Given the description of an element on the screen output the (x, y) to click on. 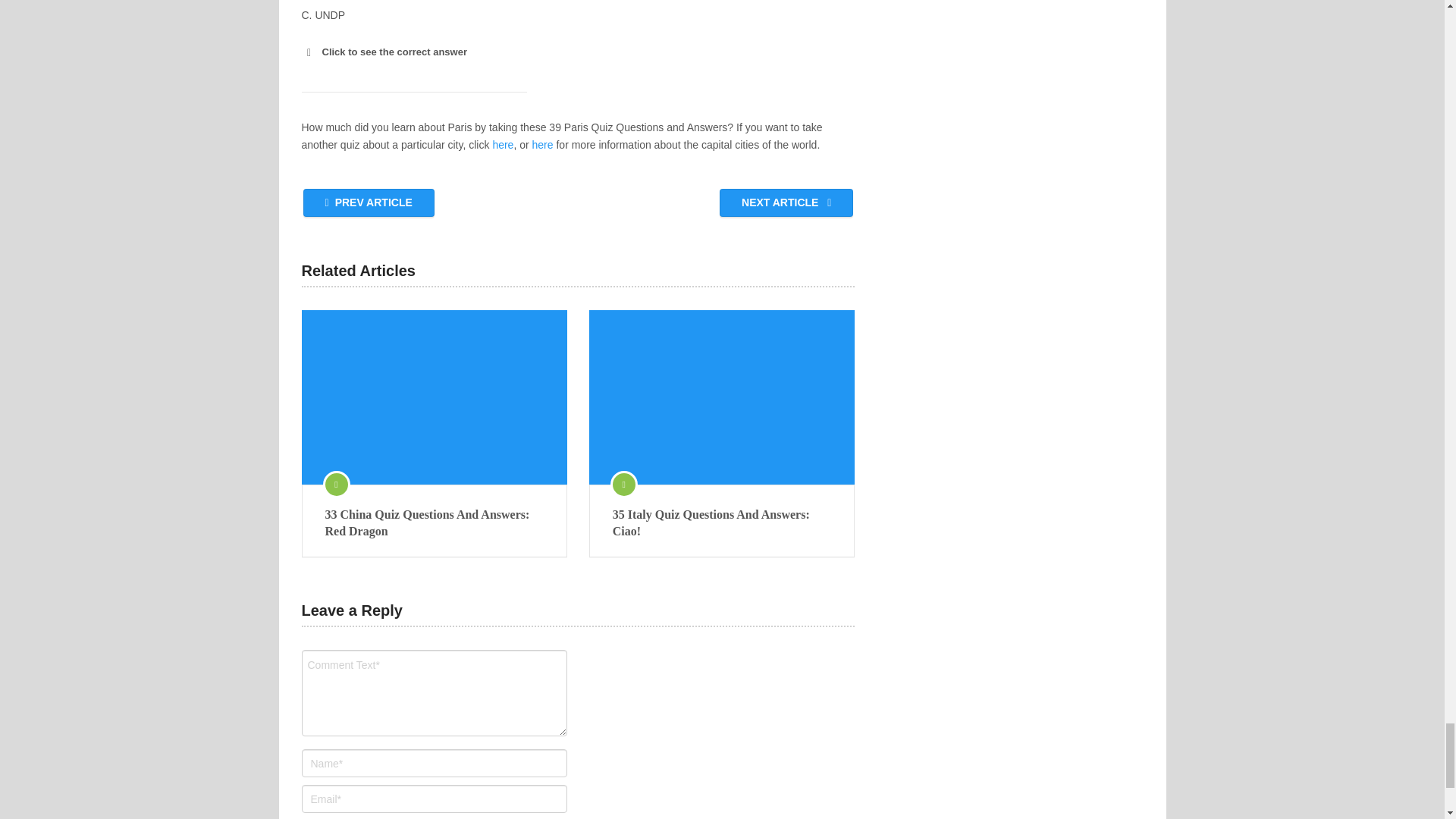
NEXT ARTICLE (786, 203)
35 Italy Quiz Questions And Answers: Ciao! (721, 523)
33 China Quiz Questions And Answers: Red Dragon (433, 523)
35 Italy Quiz Questions And Answers: Ciao! (721, 523)
here (542, 144)
here (502, 144)
35 Italy Quiz Questions And Answers: Ciao! (721, 397)
33 China Quiz Questions And Answers: Red Dragon (434, 397)
PREV ARTICLE (367, 203)
33 China Quiz Questions And Answers: Red Dragon (433, 523)
